Given the description of an element on the screen output the (x, y) to click on. 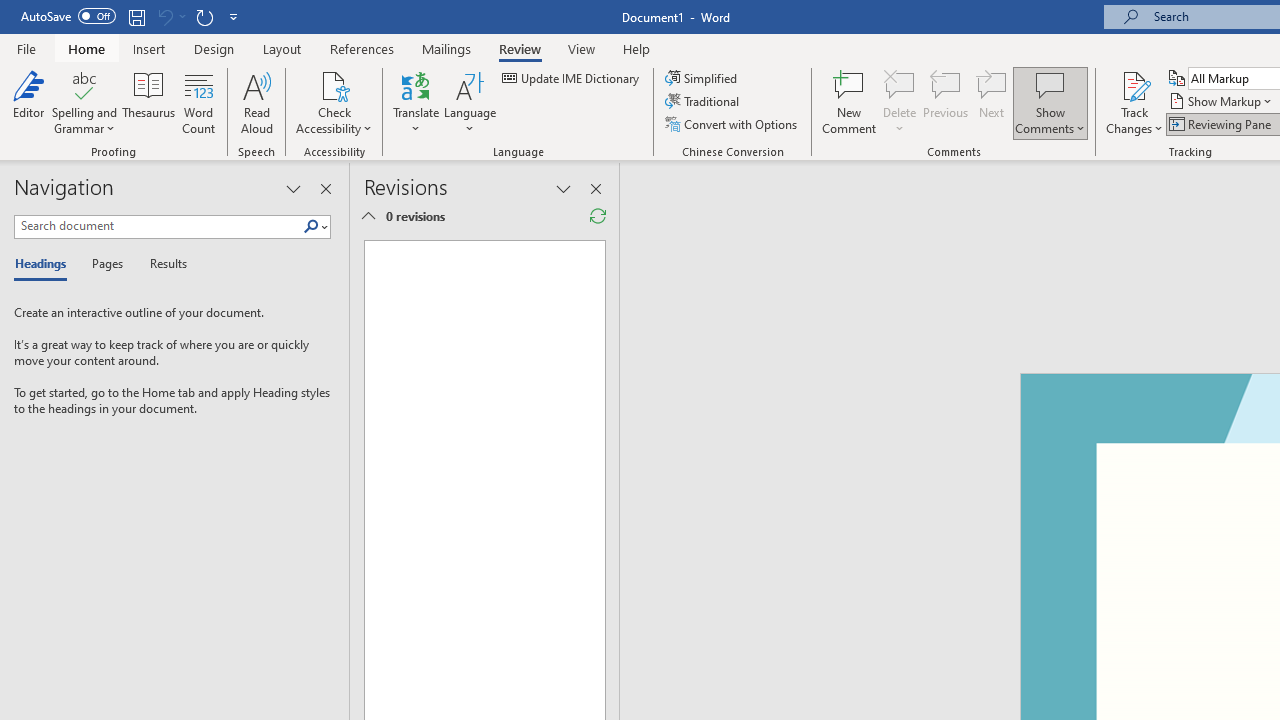
Previous (946, 102)
Convert with Options... (732, 124)
Headings (45, 264)
Language (470, 102)
Traditional (703, 101)
Delete (900, 102)
Track Changes (1134, 102)
Show Markup (1222, 101)
Show Comments (1050, 84)
